Given the description of an element on the screen output the (x, y) to click on. 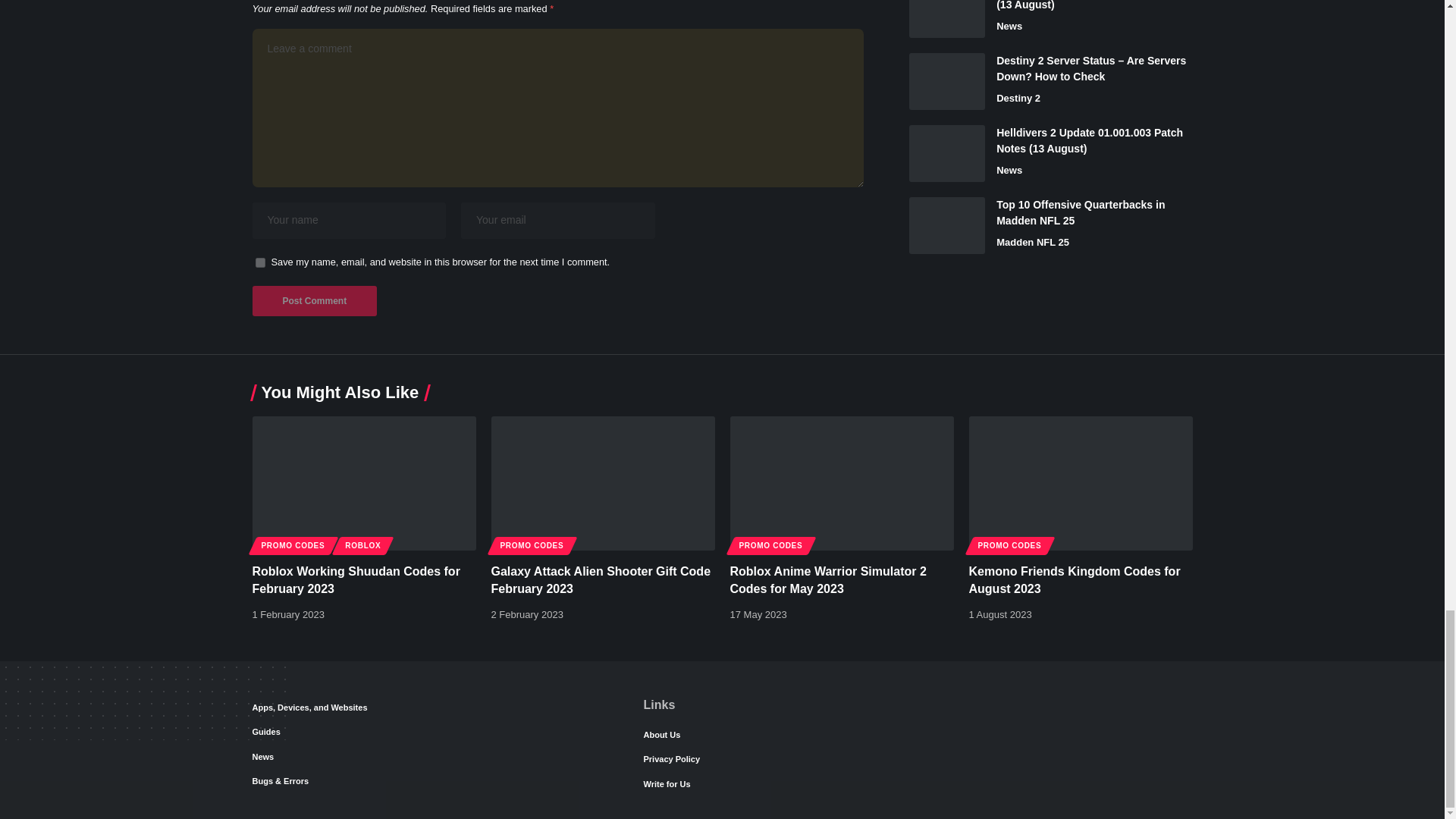
Roblox Working Shuudan Codes for February 2023 (363, 483)
Galaxy Attack Alien Shooter Gift Code February 2023 (603, 483)
yes (259, 262)
Roblox Anime Warrior Simulator 2 Codes for May 2023 (841, 483)
Kemono Friends Kingdom Codes for August 2023 (1080, 483)
Post Comment (314, 300)
